Given the description of an element on the screen output the (x, y) to click on. 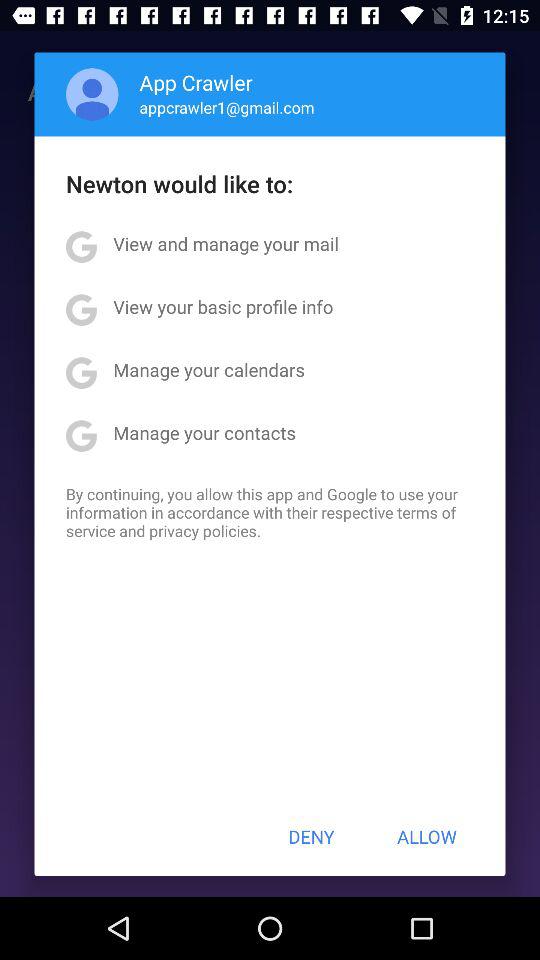
open the deny item (311, 836)
